Given the description of an element on the screen output the (x, y) to click on. 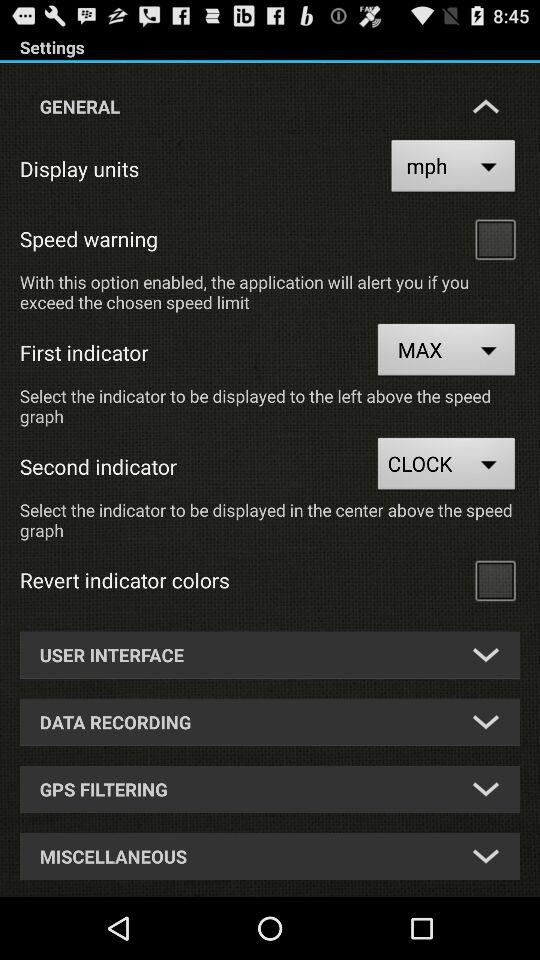
click max (447, 352)
click on drop down list of second option (485, 721)
